Given the description of an element on the screen output the (x, y) to click on. 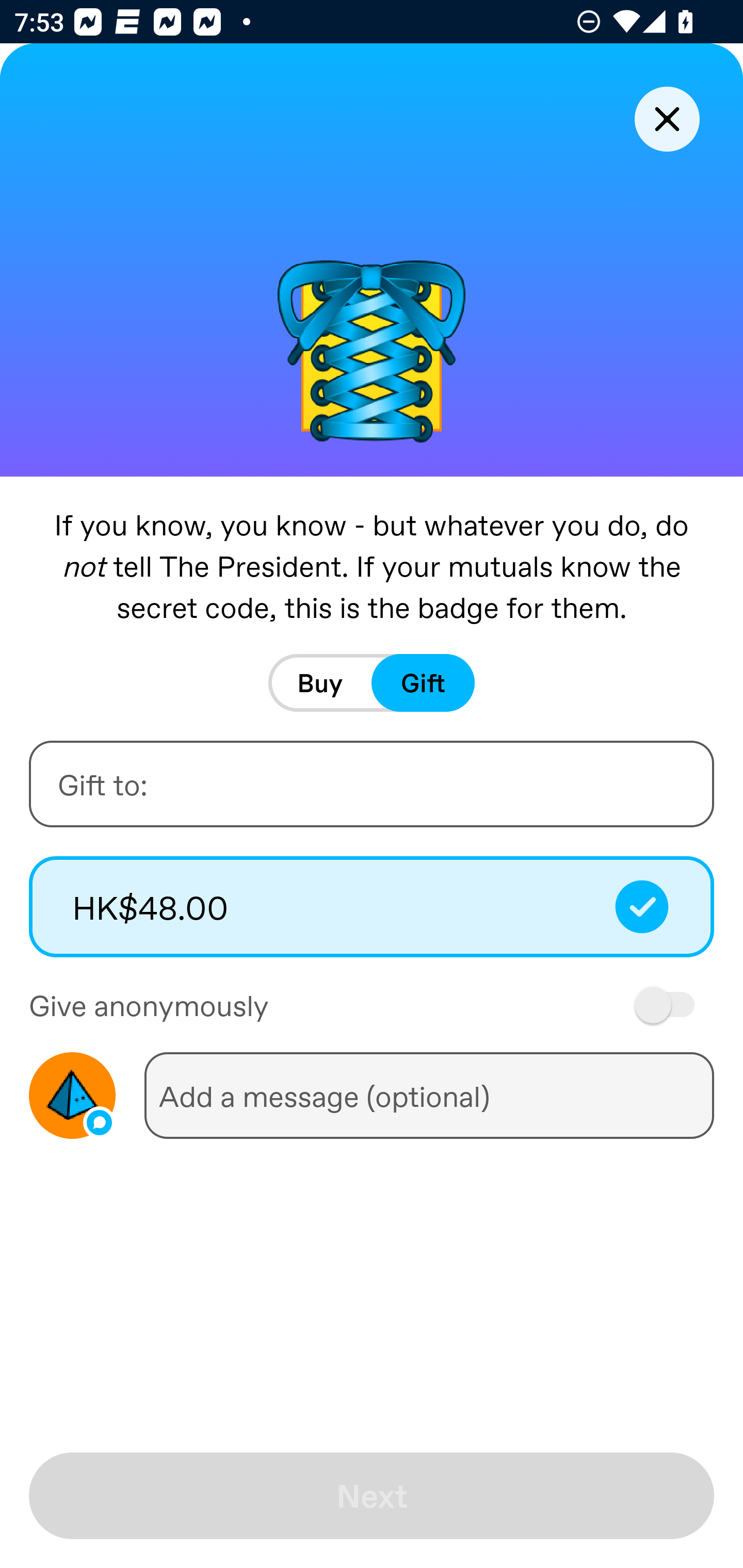
Buy (319, 682)
Gift (423, 682)
Gift to: (371, 783)
Add a message (optional) (429, 1095)
Next (371, 1495)
